Given the description of an element on the screen output the (x, y) to click on. 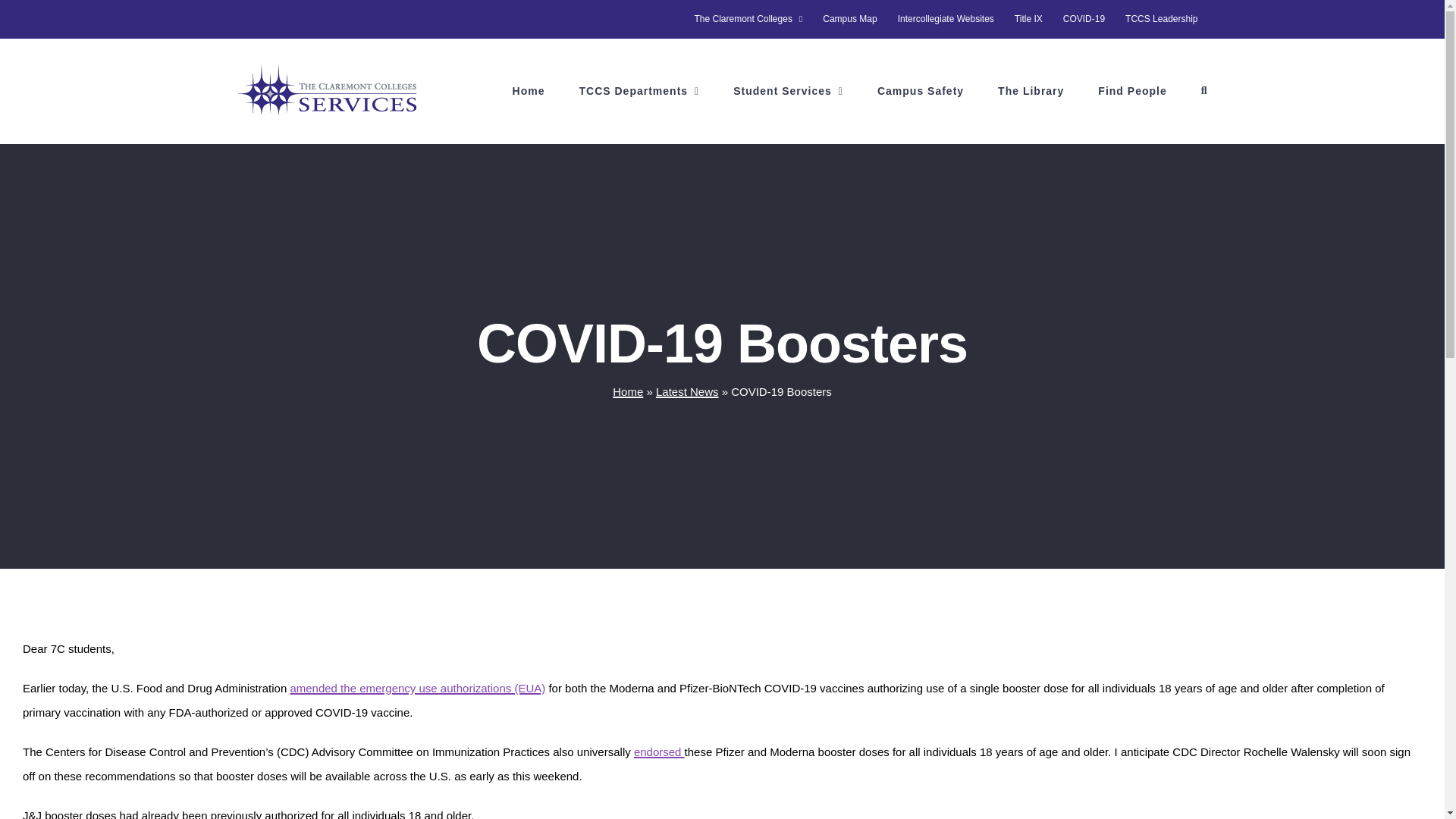
Campus Map (849, 18)
Intercollegiate Websites (946, 18)
TCCS Departments (639, 90)
The Claremont Colleges (748, 18)
TCCS Leadership (1161, 18)
Claremont Colleges Campus Map (849, 18)
Title IX (1028, 18)
COVID-19 (1083, 18)
